Given the description of an element on the screen output the (x, y) to click on. 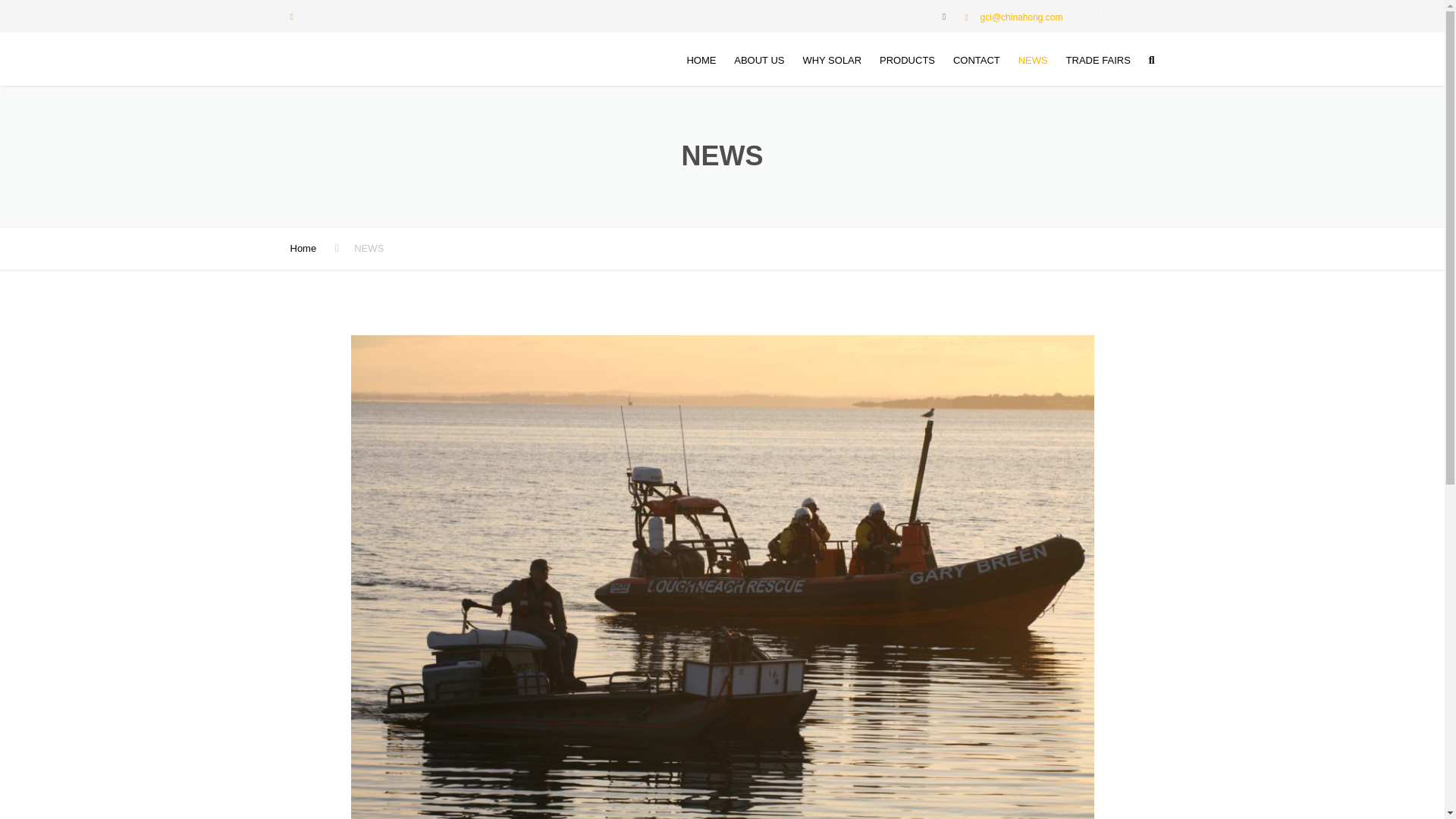
PRODUCTS (907, 60)
CONTACT (975, 60)
WHY SOLAR (831, 60)
Home (302, 247)
ABOUT US (759, 60)
TRADE FAIRS (1098, 60)
